Given the description of an element on the screen output the (x, y) to click on. 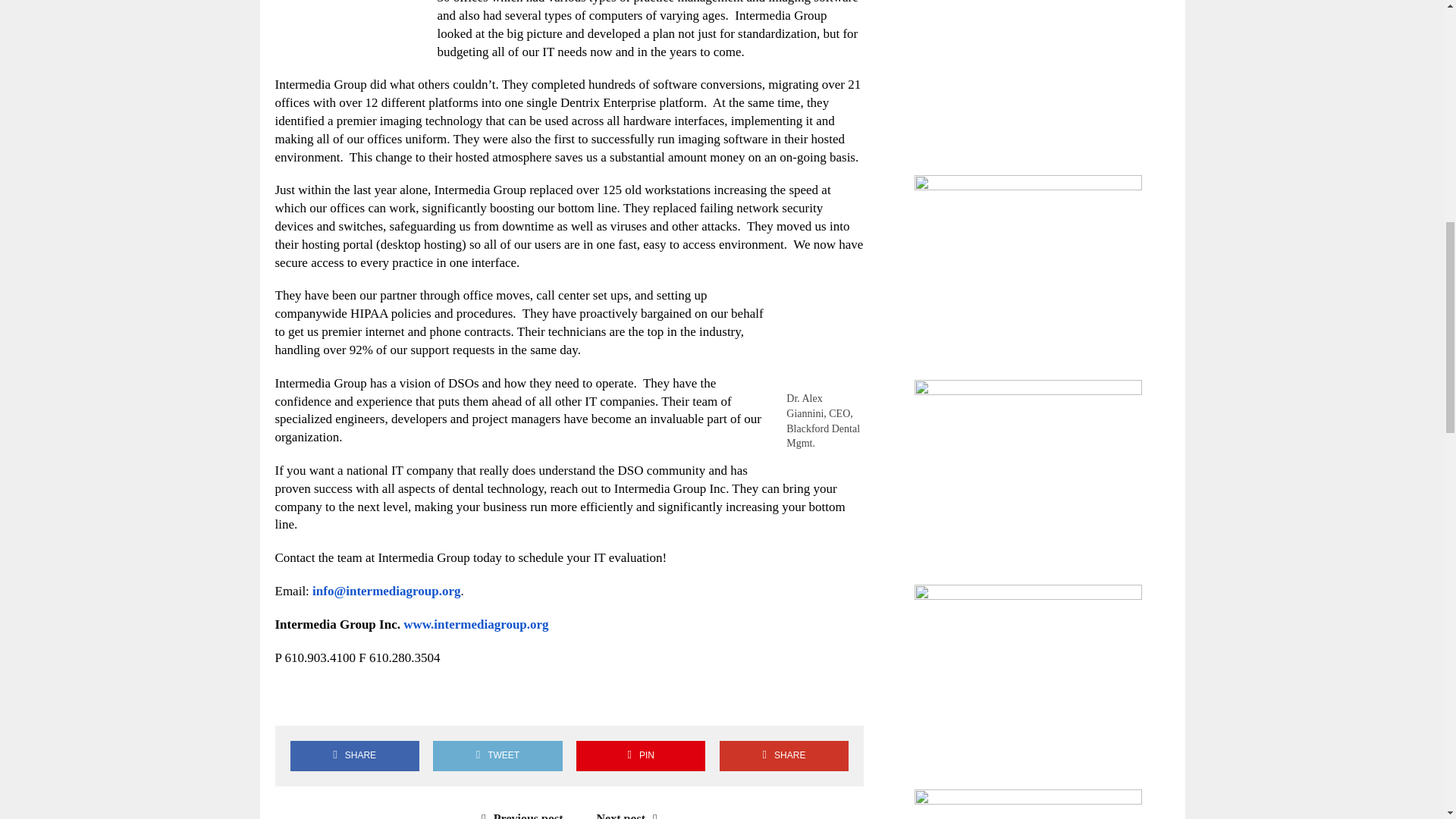
Share on Twitter (336, 699)
Share on Linkedin (380, 699)
Share on Facebook (293, 699)
Share by email (424, 699)
